Given the description of an element on the screen output the (x, y) to click on. 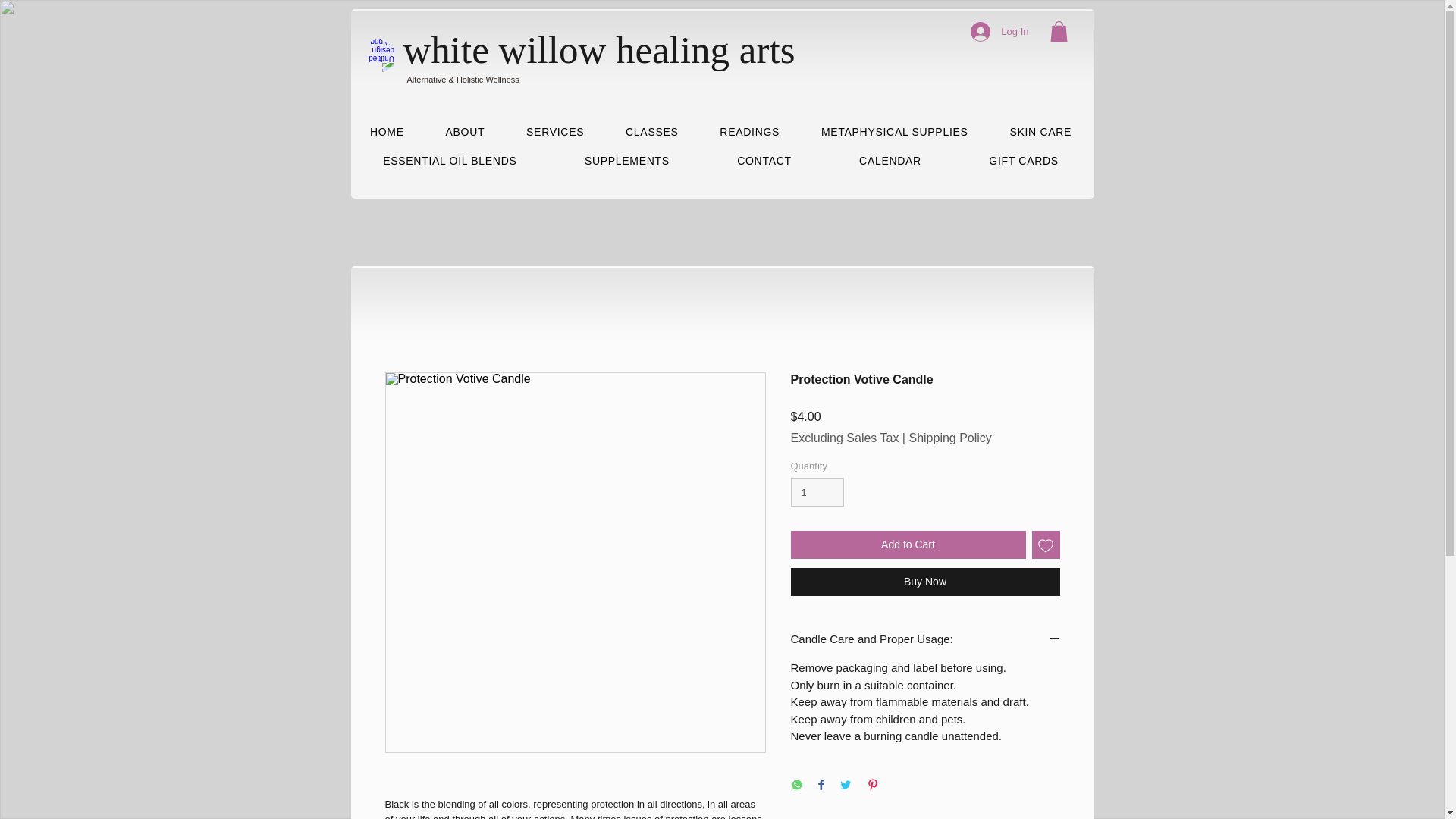
Log In (999, 31)
Shipping Policy (949, 438)
ABOUT (465, 131)
CALENDAR (890, 160)
Candle Care and Proper Usage: (924, 639)
METAPHYSICAL SUPPLIES (894, 131)
white willow healing arts (598, 49)
GIFT CARDS (1024, 160)
READINGS (749, 131)
SUPPLEMENTS (626, 160)
